Given the description of an element on the screen output the (x, y) to click on. 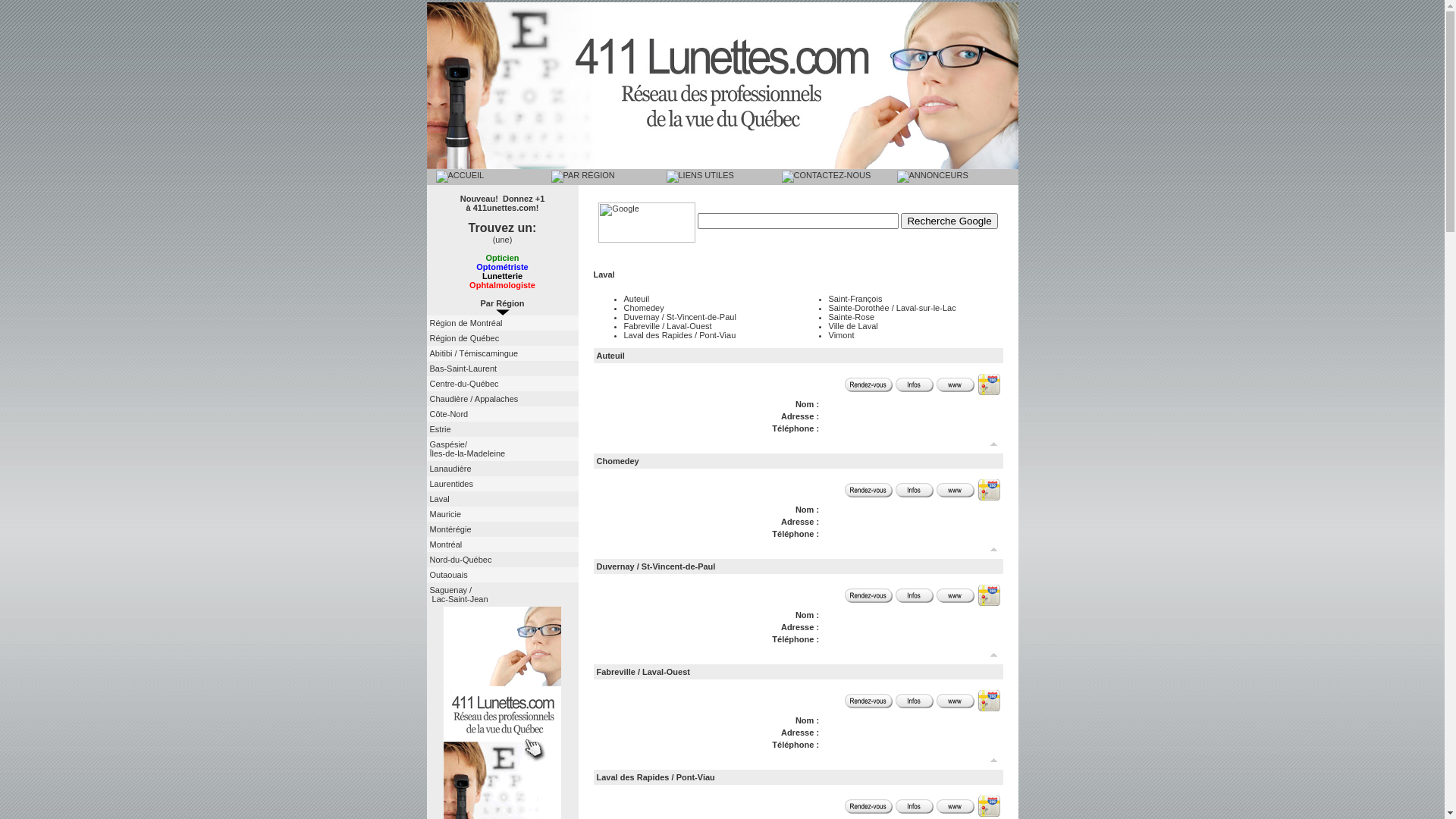
 Lac-Saint-Jean Element type: text (458, 598)
Estrie Element type: text (439, 428)
Laval des Rapides / Pont-Viau Element type: text (655, 776)
Chomedey Element type: text (617, 460)
Bas-Saint-Laurent Element type: text (462, 368)
Fabreville / Laval-Ouest Element type: text (643, 671)
Laval Element type: text (438, 498)
Duvernay / St-Vincent-de-Paul Element type: text (655, 566)
Chomedey Element type: text (643, 307)
Outaouais Element type: text (448, 574)
Fabreville / Laval-Ouest Element type: text (667, 325)
Mauricie Element type: text (445, 513)
Duvernay / St-Vincent-de-Paul Element type: text (679, 316)
Vimont Element type: text (840, 334)
Sainte-Rose Element type: text (851, 316)
Saguenay / Element type: text (450, 589)
Auteuil Element type: text (610, 355)
Laval des Rapides / Pont-Viau Element type: text (679, 334)
Auteuil Element type: text (636, 298)
Laurentides Element type: text (451, 483)
Recherche Google Element type: text (948, 221)
Ville de Laval Element type: text (852, 325)
